Given the description of an element on the screen output the (x, y) to click on. 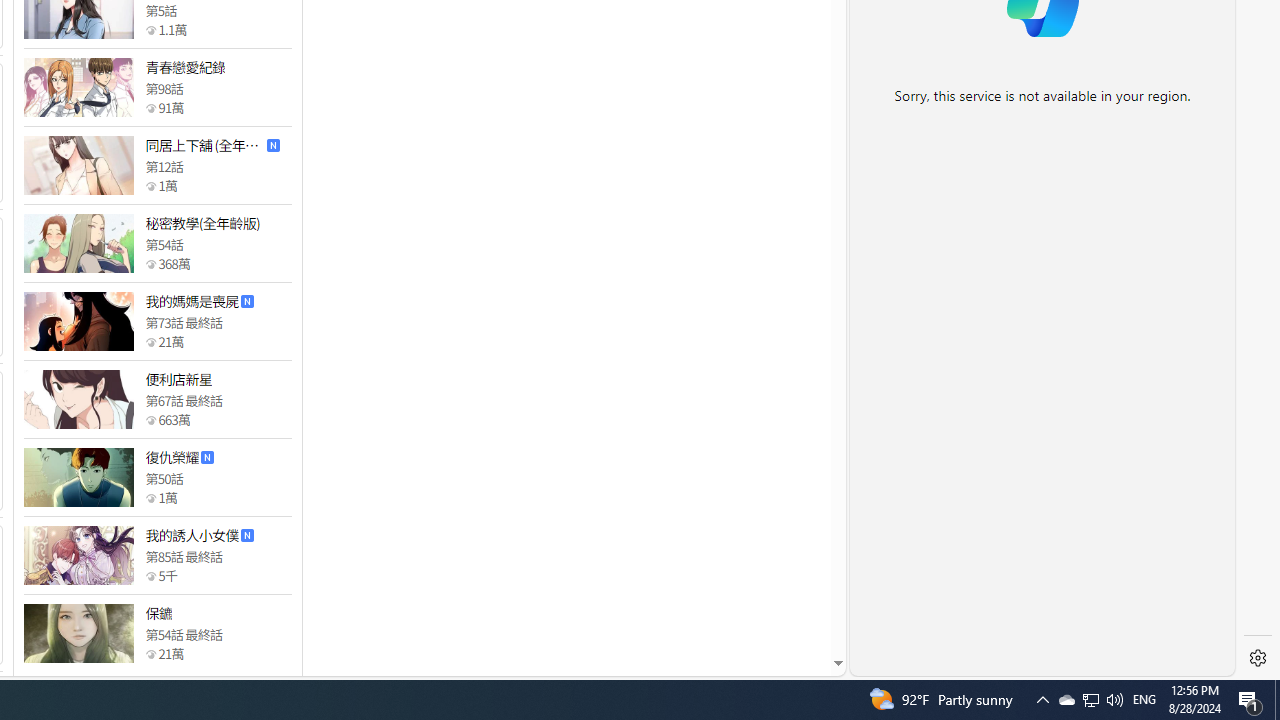
Class: thumb_img (78, 633)
